Given the description of an element on the screen output the (x, y) to click on. 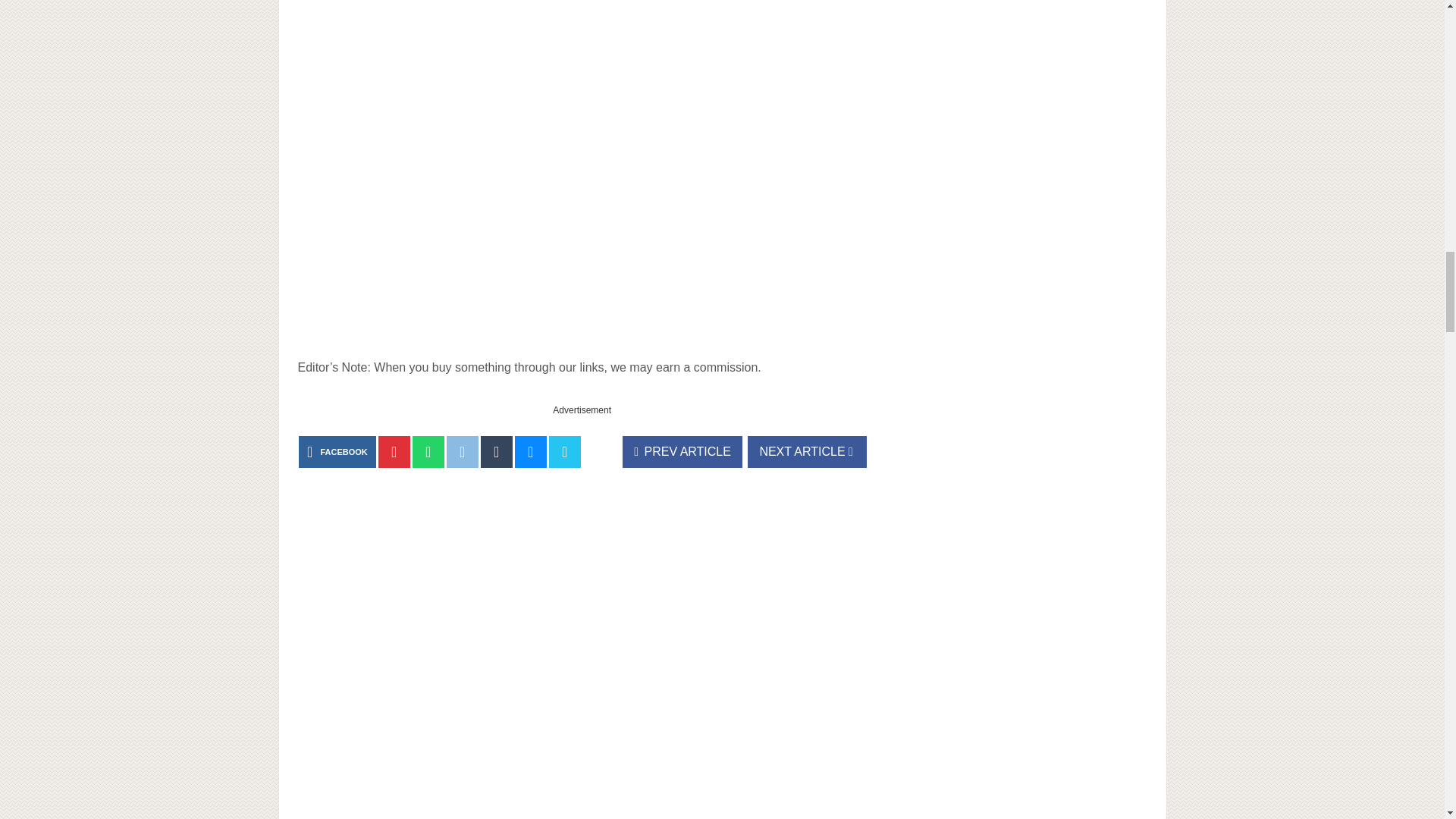
PREV ARTICLE (682, 451)
FACEBOOK (336, 451)
NEXT ARTICLE (807, 451)
